Given the description of an element on the screen output the (x, y) to click on. 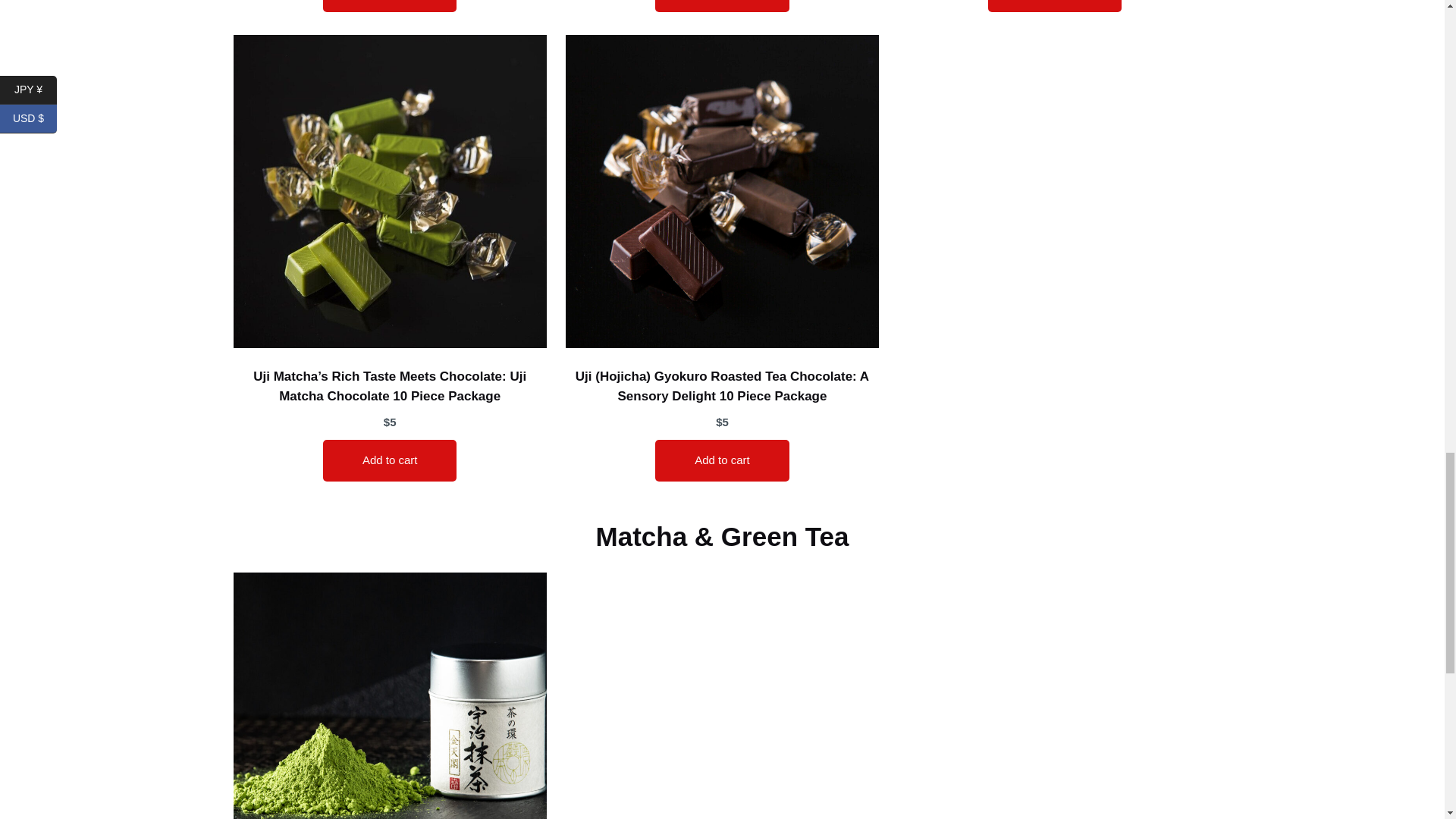
uji-gyokuro-roasted-tea-chocolate-a-sensory-delight (722, 191)
Add to cart (390, 460)
Add to cart (722, 6)
Add to cart (390, 6)
matcha-financier-10-pieces (389, 695)
Add to cart (1055, 6)
